Given the description of an element on the screen output the (x, y) to click on. 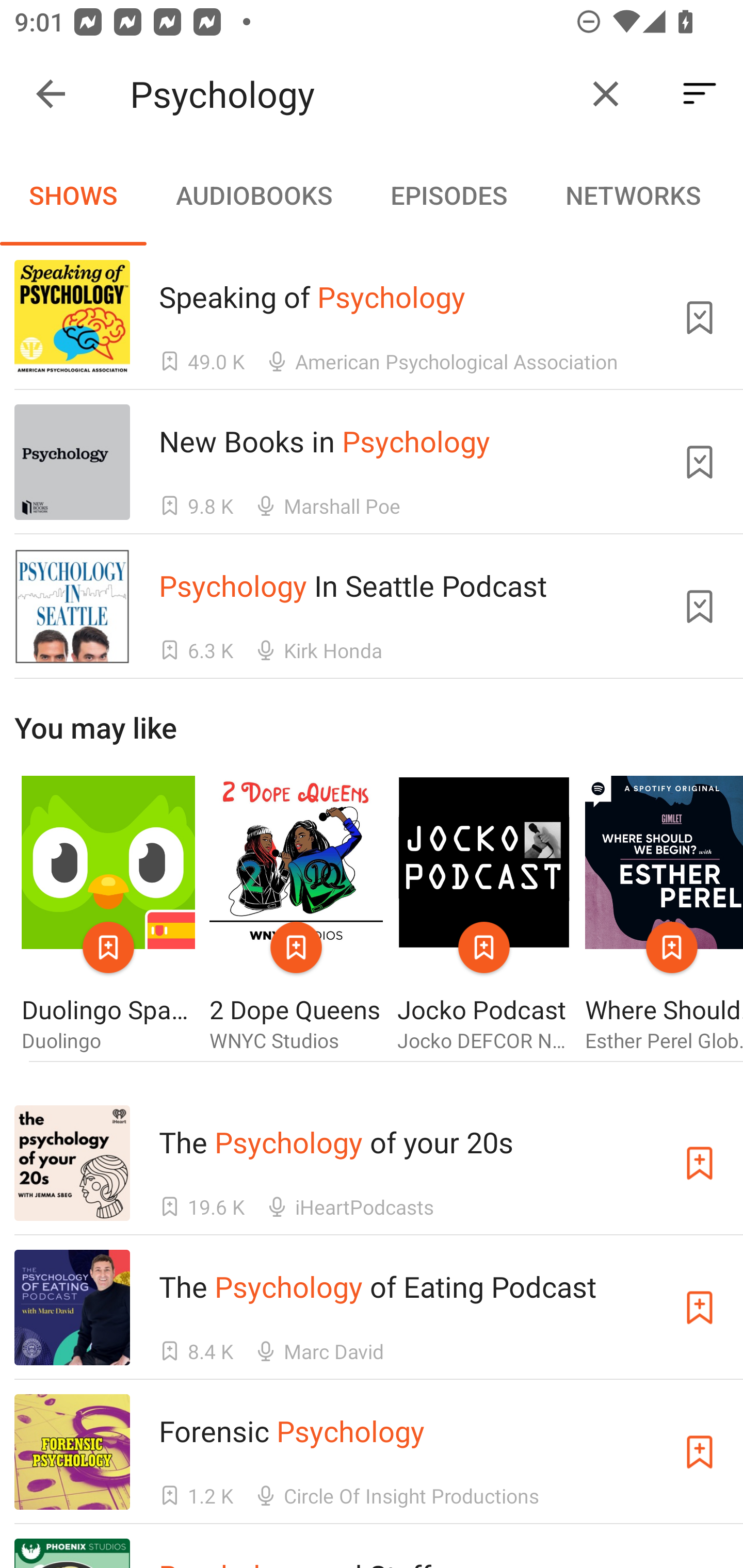
Collapse (50, 93)
Clear query (605, 93)
Sort By (699, 93)
Psychology (349, 94)
SHOWS (73, 195)
AUDIOBOOKS (253, 195)
EPISODES (448, 195)
NETWORKS (632, 195)
AUDIO (736, 195)
Unsubscribe (699, 317)
Unsubscribe (699, 462)
Unsubscribe (699, 606)
Duolingo Spanish Podcast Duolingo (107, 914)
2 Dope Queens WNYC Studios (295, 914)
Jocko Podcast Jocko DEFCOR Network (483, 914)
Subscribe (699, 1163)
Subscribe (699, 1307)
Subscribe (699, 1451)
